Given the description of an element on the screen output the (x, y) to click on. 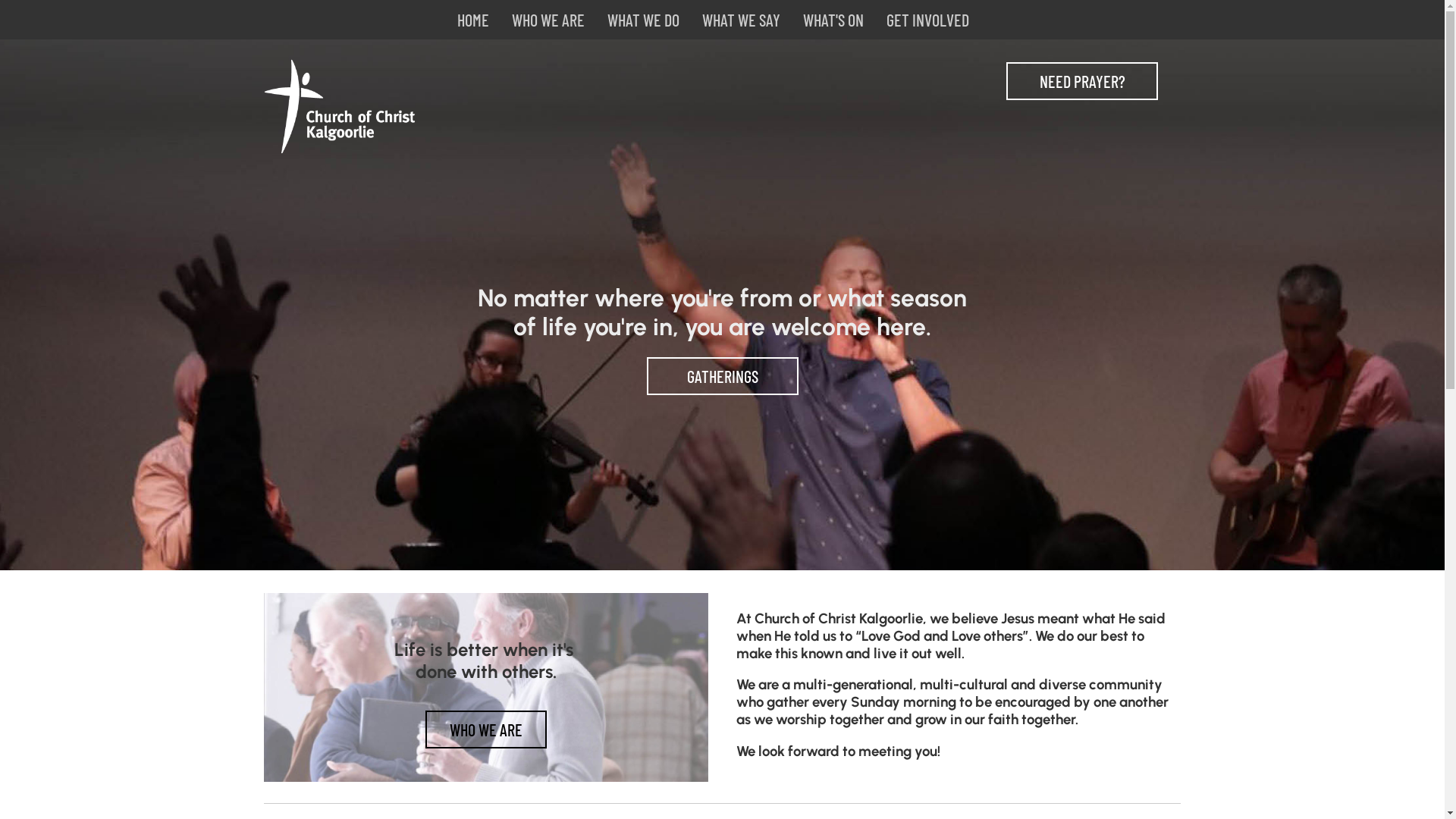
WHO WE ARE Element type: text (548, 19)
WHAT WE SAY Element type: text (740, 19)
WHAT'S ON Element type: text (833, 19)
HOME Element type: text (472, 19)
WHAT WE DO Element type: text (643, 19)
NEED PRAYER? Element type: text (1082, 81)
GATHERINGS Element type: text (722, 375)
WHO WE ARE Element type: text (485, 729)
GET INVOLVED Element type: text (927, 19)
